Given the description of an element on the screen output the (x, y) to click on. 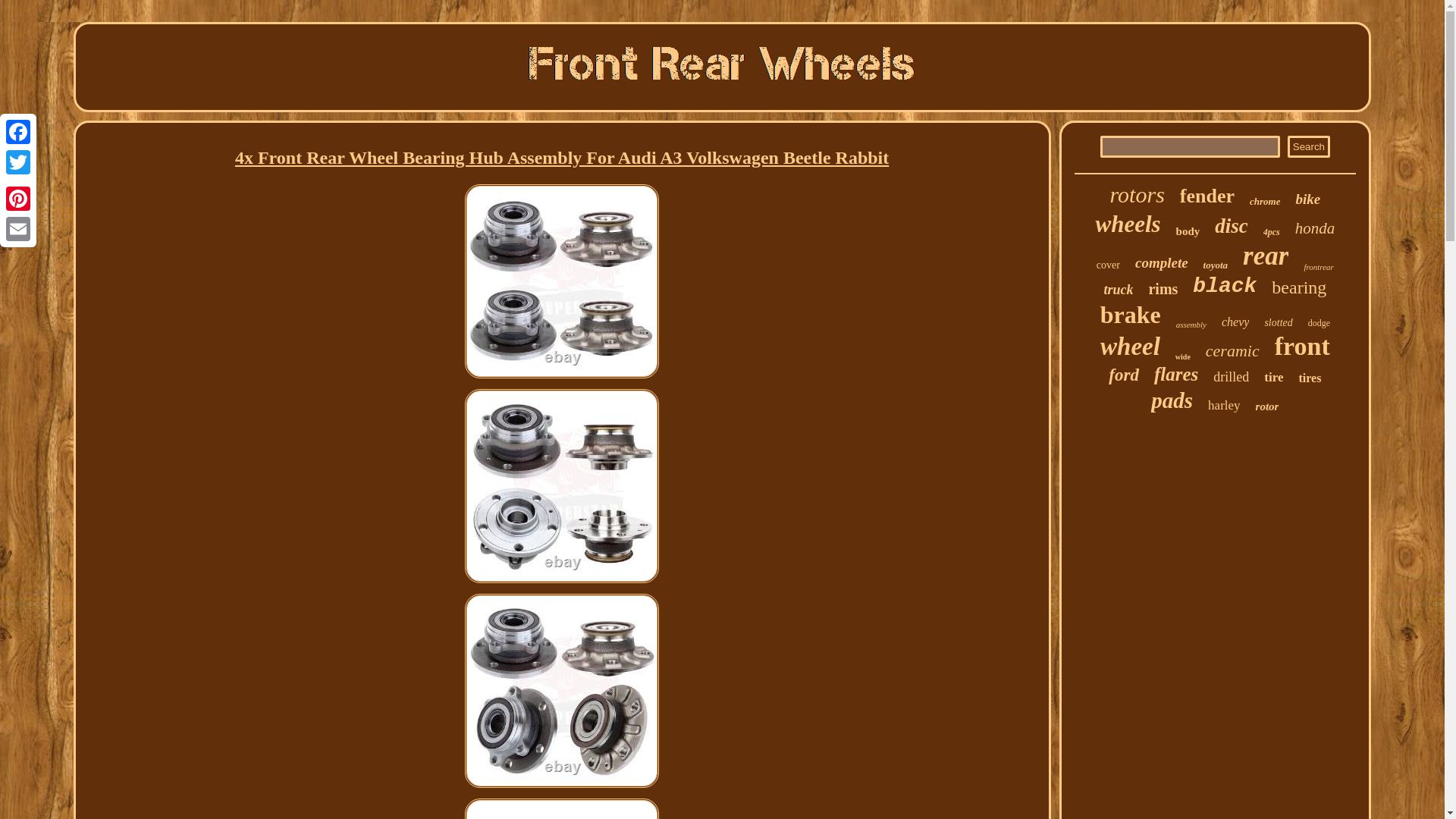
Pinterest (17, 198)
honda (1315, 228)
rotors (1136, 194)
wheels (1127, 224)
toyota (1216, 265)
4pcs (1271, 232)
frontrear (1318, 266)
Twitter (17, 162)
disc (1230, 226)
body (1187, 231)
Search (1308, 146)
